Given the description of an element on the screen output the (x, y) to click on. 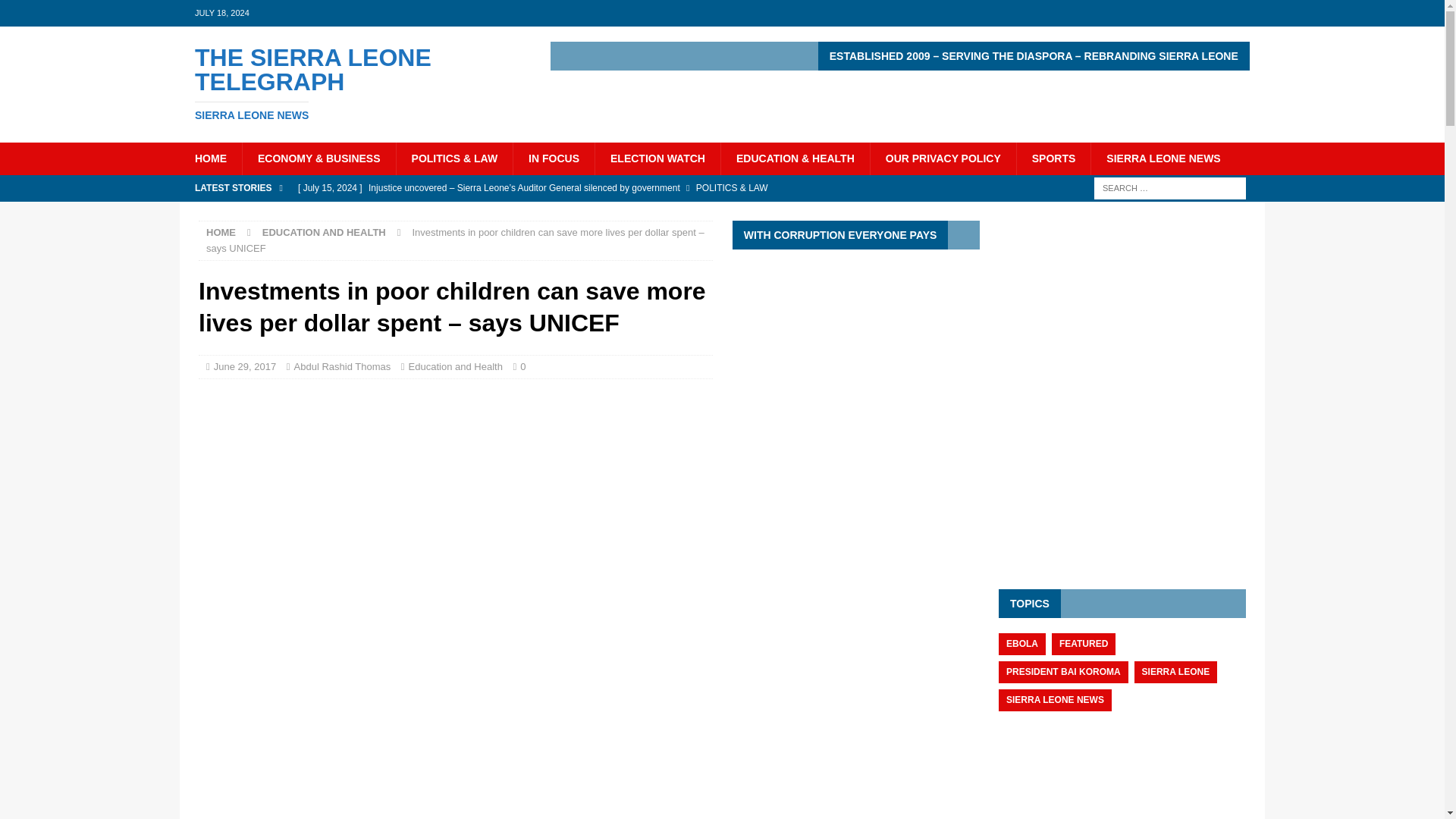
0 (522, 366)
The Sierra Leone Telegraph (351, 83)
SPORTS (1053, 158)
Search (56, 11)
ELECTION WATCH (657, 158)
HOME (220, 232)
SIERRA LEONE NEWS (1162, 158)
June 29, 2017 (245, 366)
IN FOCUS (553, 158)
EDUCATION AND HEALTH (323, 232)
Education and Health (455, 366)
OUR PRIVACY POLICY (351, 83)
Abdul Rashid Thomas (942, 158)
